Given the description of an element on the screen output the (x, y) to click on. 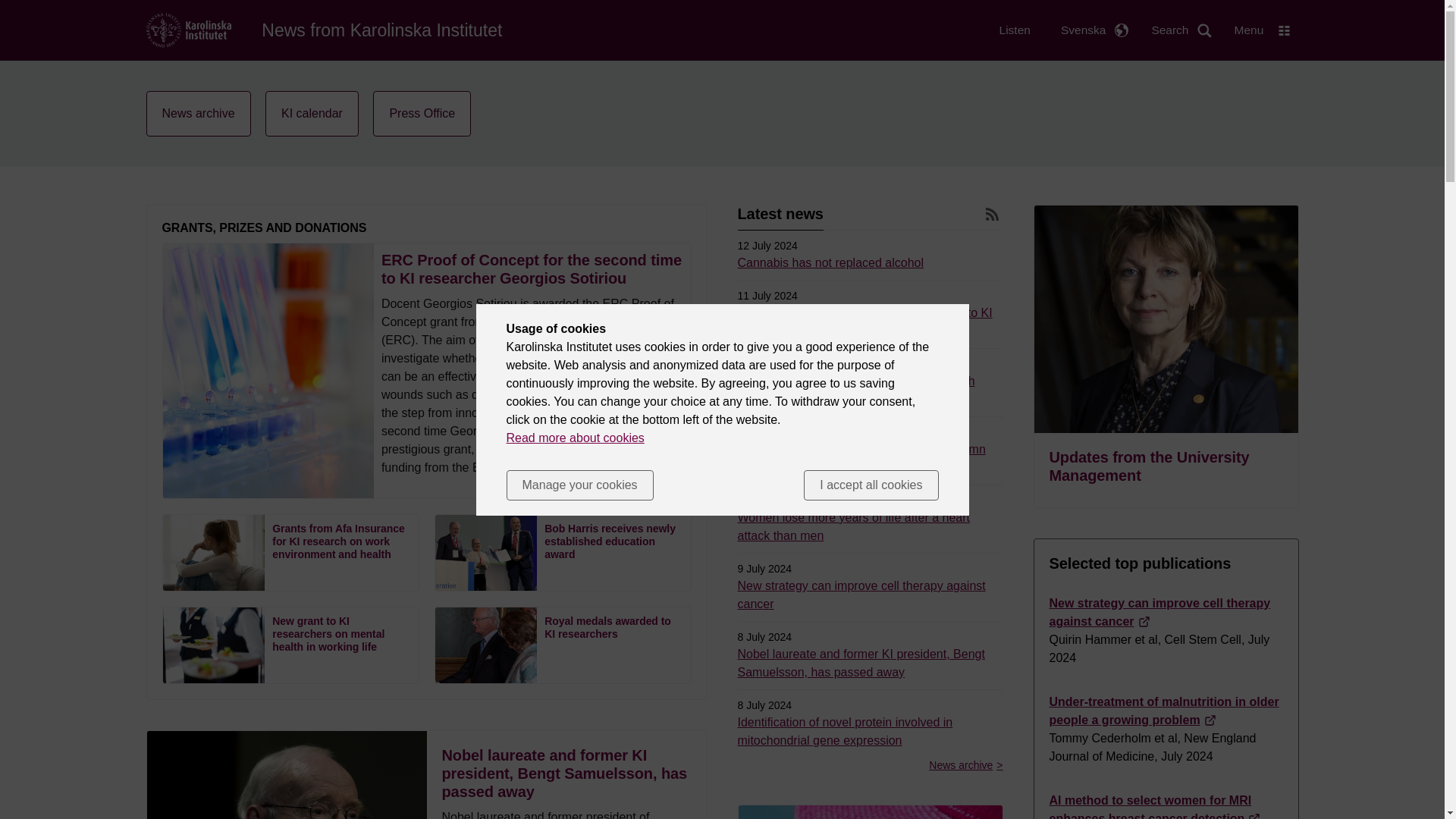
News archive (197, 113)
Cannabis has not replaced alcohol (829, 262)
News from Karolinska Institutet (382, 30)
Press Office (421, 113)
Questions and answers about heat and high temperatures (855, 389)
Home (188, 29)
Listen (1014, 30)
KI calendar (311, 113)
Women lose more years of life after a heart attack than men (852, 526)
Bob Harris receives newly established education award (562, 552)
New grant to KI researchers on mental health in working life (289, 645)
Home (382, 30)
